Given the description of an element on the screen output the (x, y) to click on. 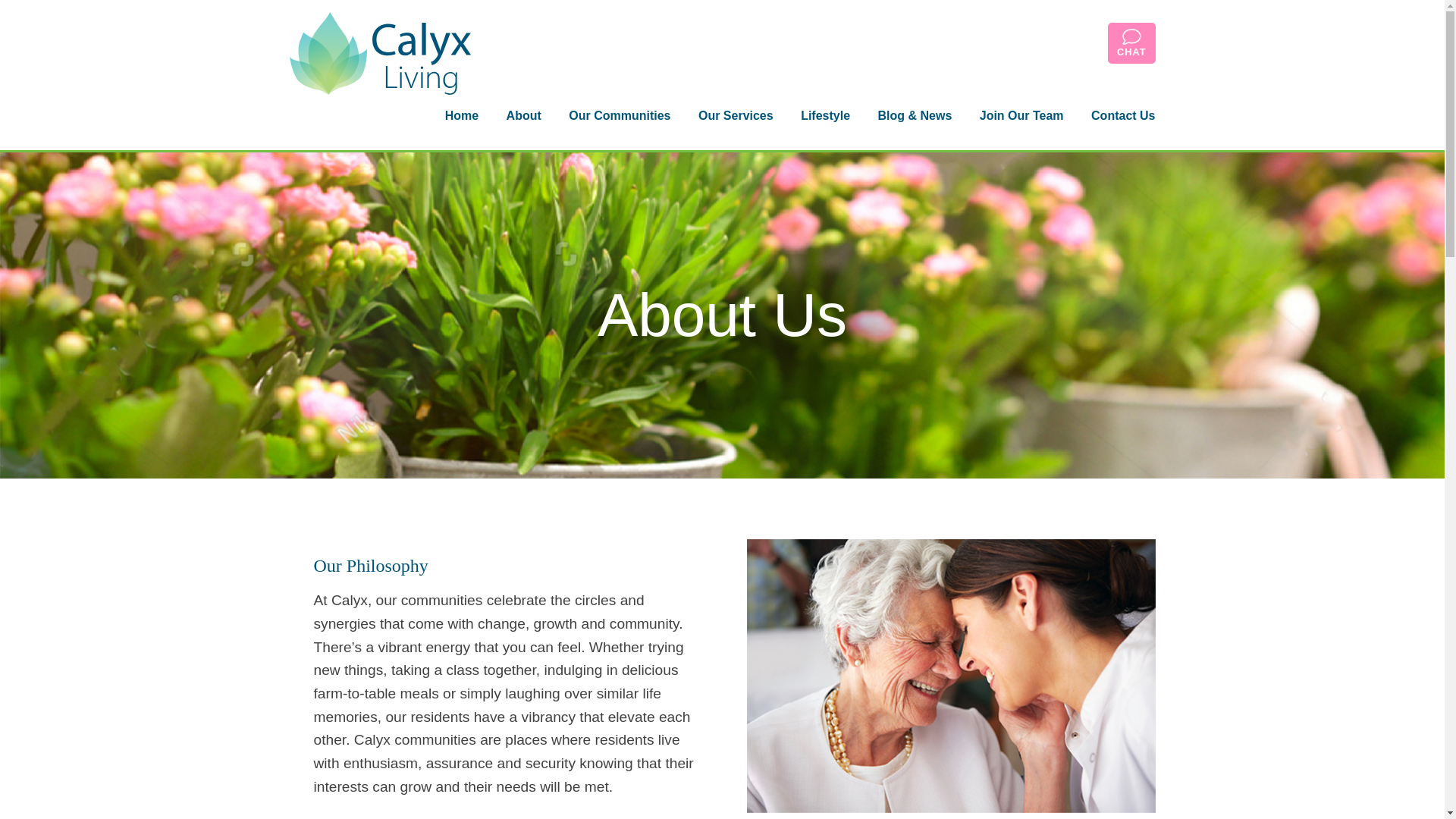
Join Our Team (1021, 115)
About (524, 115)
Our Services (735, 115)
Contact Us (1122, 115)
Home (461, 115)
CHAT (1132, 42)
Our Communities (619, 115)
Lifestyle (825, 115)
